Given the description of an element on the screen output the (x, y) to click on. 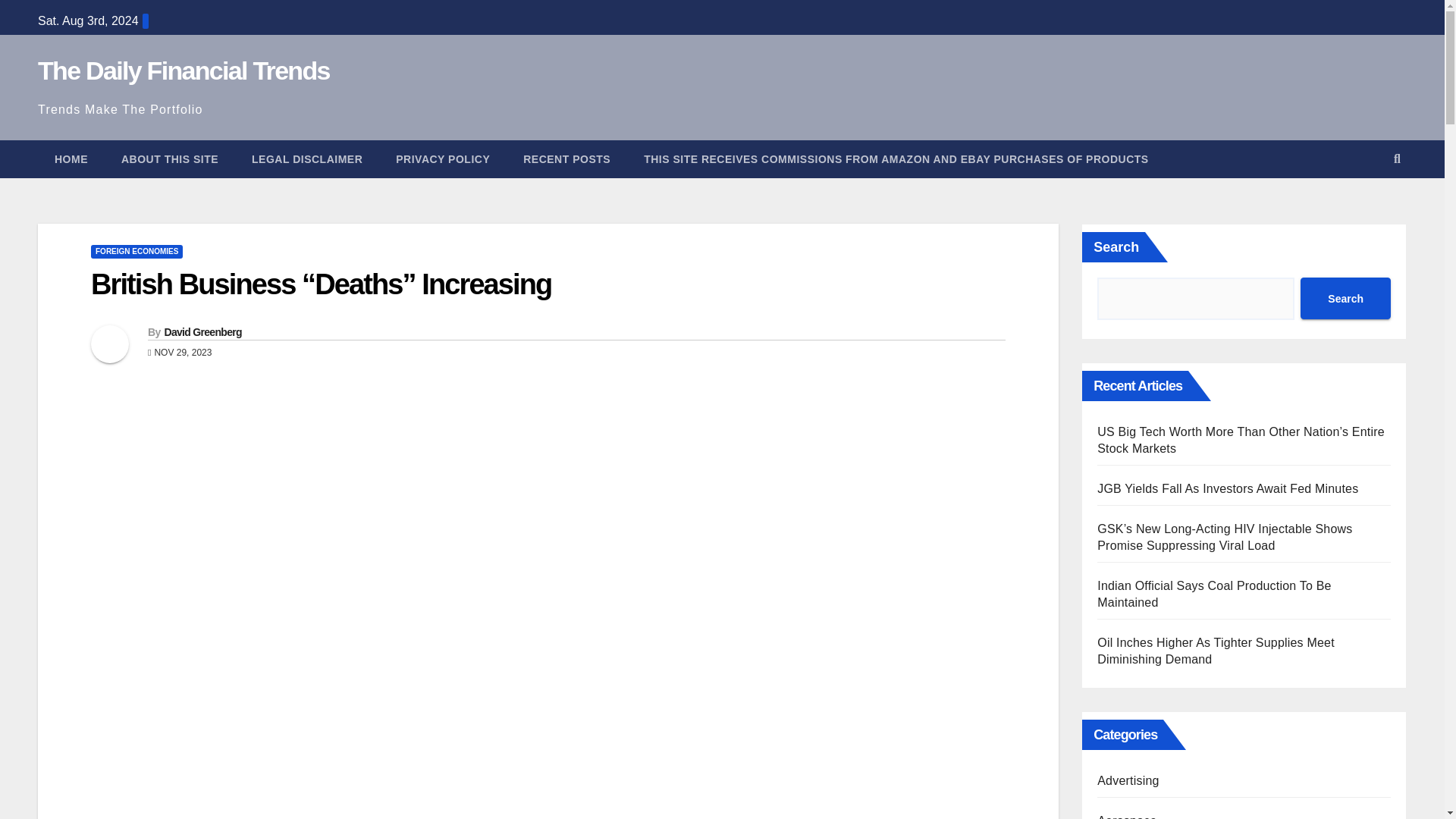
ABOUT THIS SITE (169, 159)
HOME (70, 159)
LEGAL DISCLAIMER (306, 159)
The Daily Financial Trends (183, 70)
Indian Official Says Coal Production To Be Maintained (1213, 594)
JGB Yields Fall As Investors Await Fed Minutes (1227, 488)
PRIVACY POLICY (442, 159)
David Greenberg (202, 331)
Home (70, 159)
RECENT POSTS (566, 159)
Search (1345, 298)
FOREIGN ECONOMIES (136, 251)
